Given the description of an element on the screen output the (x, y) to click on. 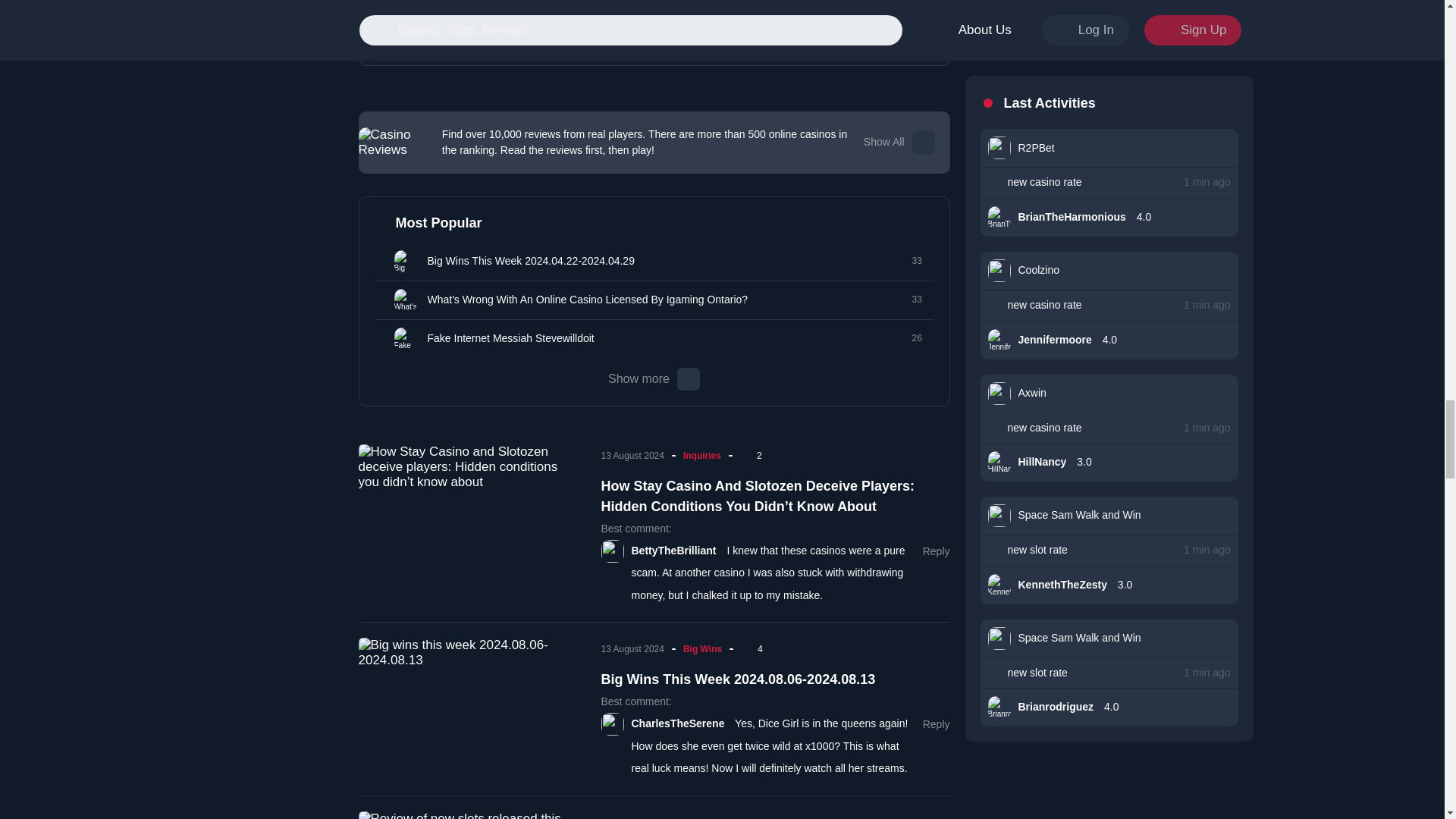
Inquiries (382, 299)
Inquiries (382, 338)
Big Wins (382, 261)
